Given the description of an element on the screen output the (x, y) to click on. 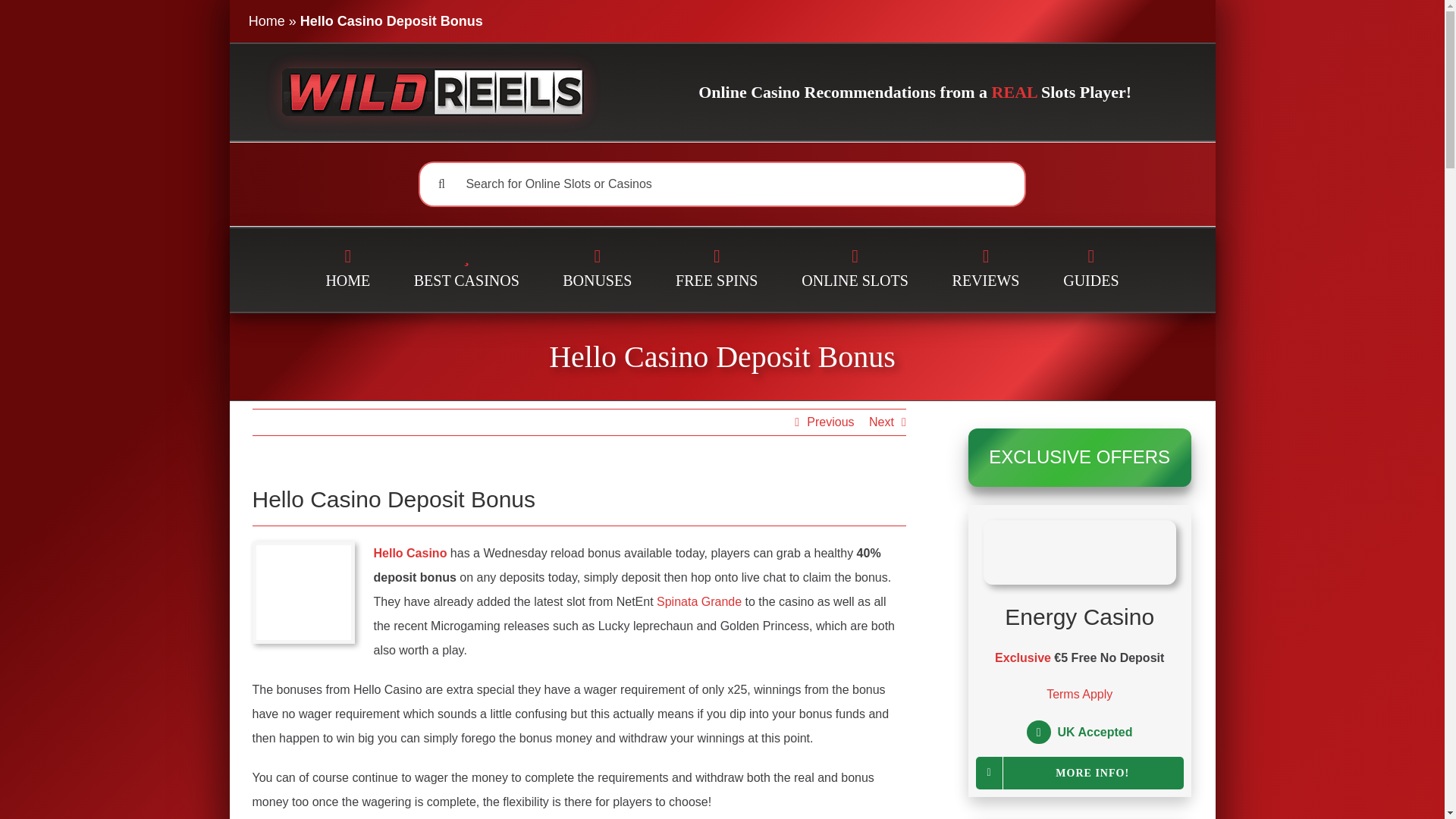
Previous (829, 421)
Hello Casino Deposit Bonus (721, 356)
REVIEWS (985, 269)
FREE SPINS (716, 269)
BONUSES (597, 269)
Search for: (721, 183)
Spinata Grande (698, 601)
GUIDES (1090, 269)
Next (881, 421)
